Given the description of an element on the screen output the (x, y) to click on. 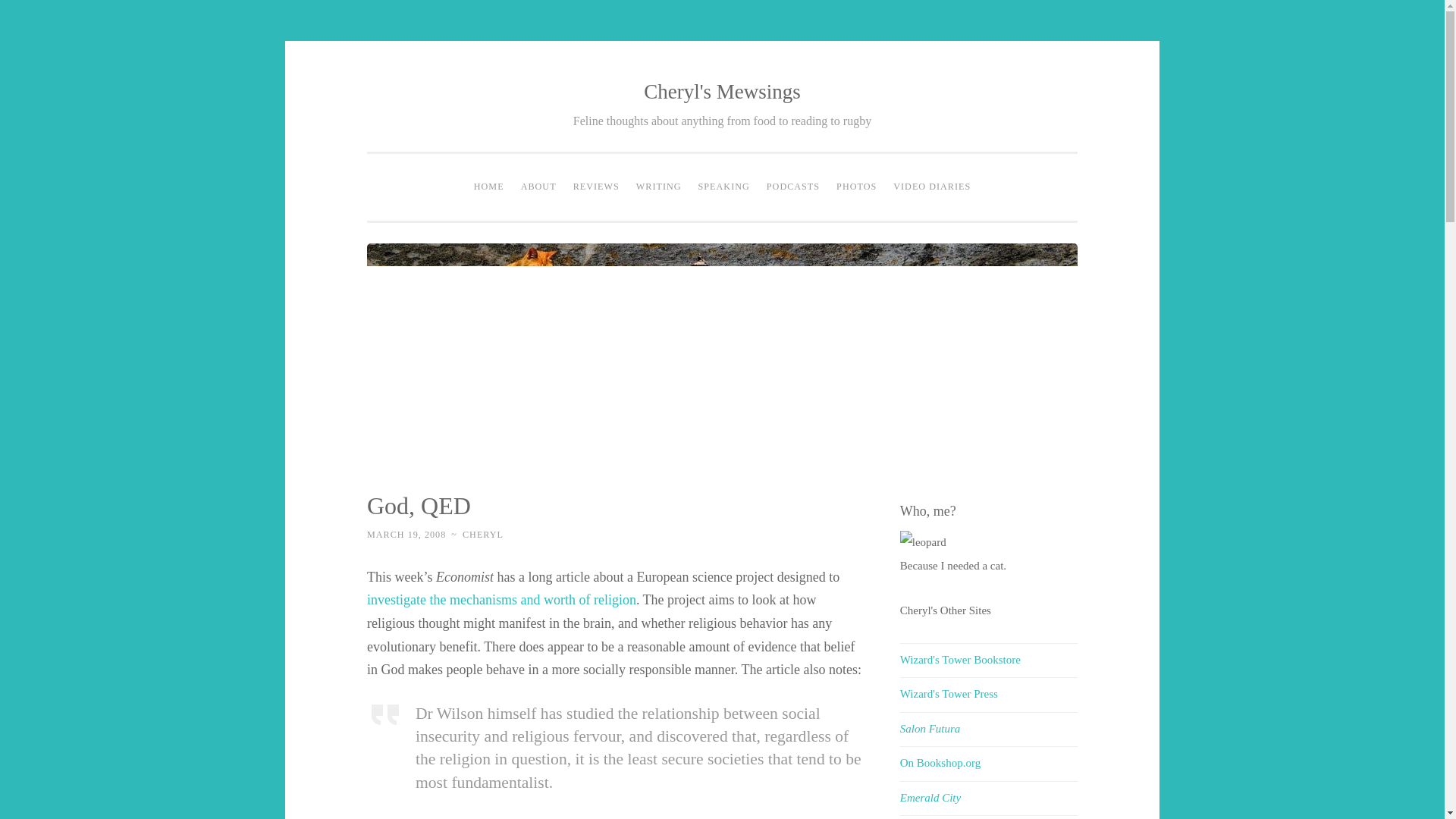
ABOUT (538, 186)
SPEAKING (724, 186)
WRITING (658, 186)
PHOTOS (856, 186)
PODCASTS (793, 186)
HOME (489, 186)
investigate the mechanisms and worth of religion (501, 599)
MARCH 19, 2008 (405, 534)
VIDEO DIARIES (931, 186)
